Given the description of an element on the screen output the (x, y) to click on. 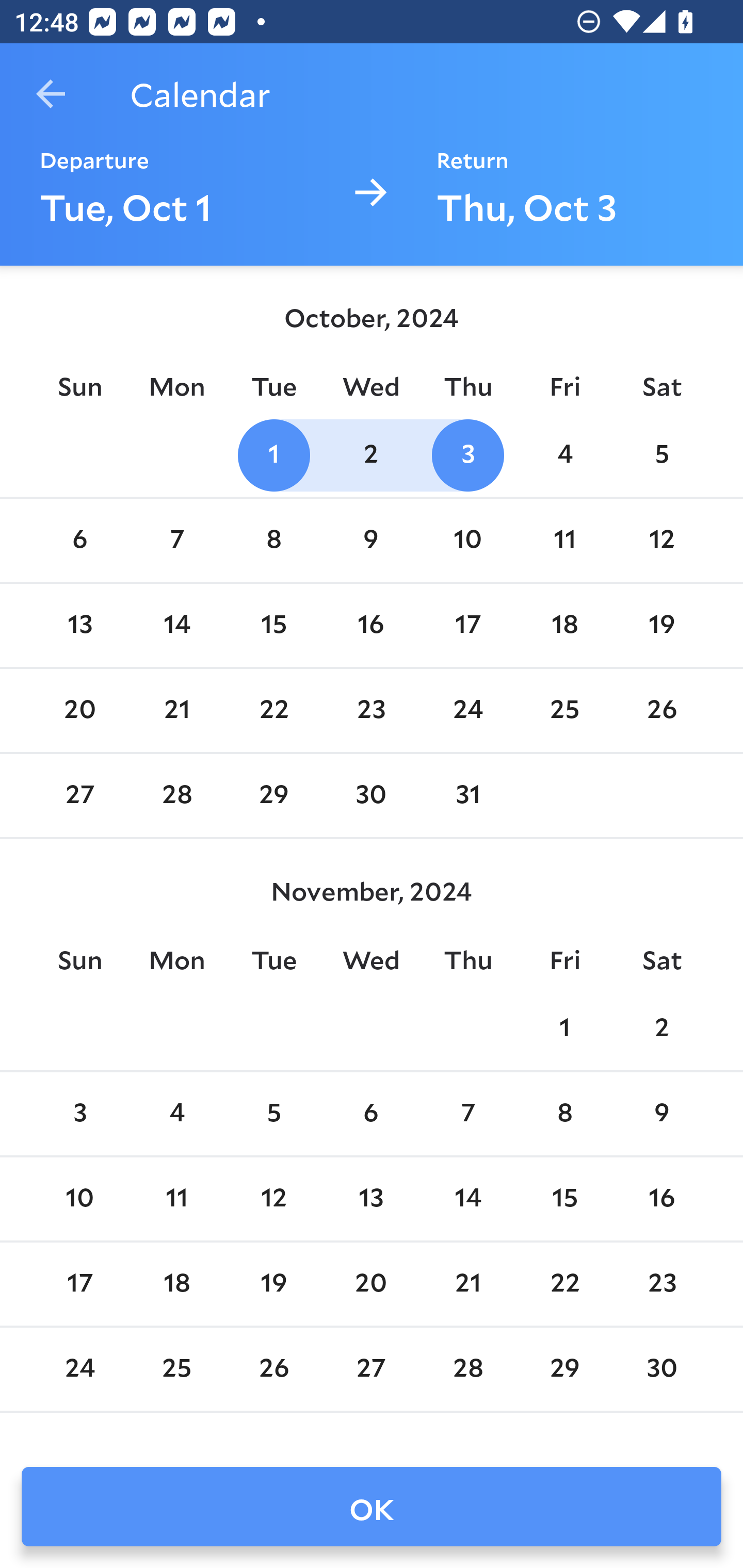
Navigate up (50, 93)
1 (273, 454)
2 (371, 454)
3 (467, 454)
4 (565, 454)
5 (661, 454)
6 (79, 540)
7 (177, 540)
8 (273, 540)
9 (371, 540)
10 (467, 540)
11 (565, 540)
12 (661, 540)
13 (79, 625)
14 (177, 625)
15 (273, 625)
16 (371, 625)
17 (467, 625)
18 (565, 625)
19 (661, 625)
20 (79, 710)
21 (177, 710)
22 (273, 710)
23 (371, 710)
24 (467, 710)
25 (565, 710)
26 (661, 710)
27 (79, 796)
28 (177, 796)
29 (273, 796)
30 (371, 796)
31 (467, 796)
1 (565, 1028)
2 (661, 1028)
3 (79, 1114)
4 (177, 1114)
5 (273, 1114)
6 (371, 1114)
7 (467, 1114)
8 (565, 1114)
9 (661, 1114)
10 (79, 1199)
11 (177, 1199)
12 (273, 1199)
13 (371, 1199)
14 (467, 1199)
15 (565, 1199)
16 (661, 1199)
17 (79, 1284)
18 (177, 1284)
19 (273, 1284)
20 (371, 1284)
21 (467, 1284)
22 (565, 1284)
23 (661, 1284)
24 (79, 1368)
25 (177, 1368)
26 (273, 1368)
27 (371, 1368)
28 (467, 1368)
29 (565, 1368)
30 (661, 1368)
OK (371, 1506)
